Given the description of an element on the screen output the (x, y) to click on. 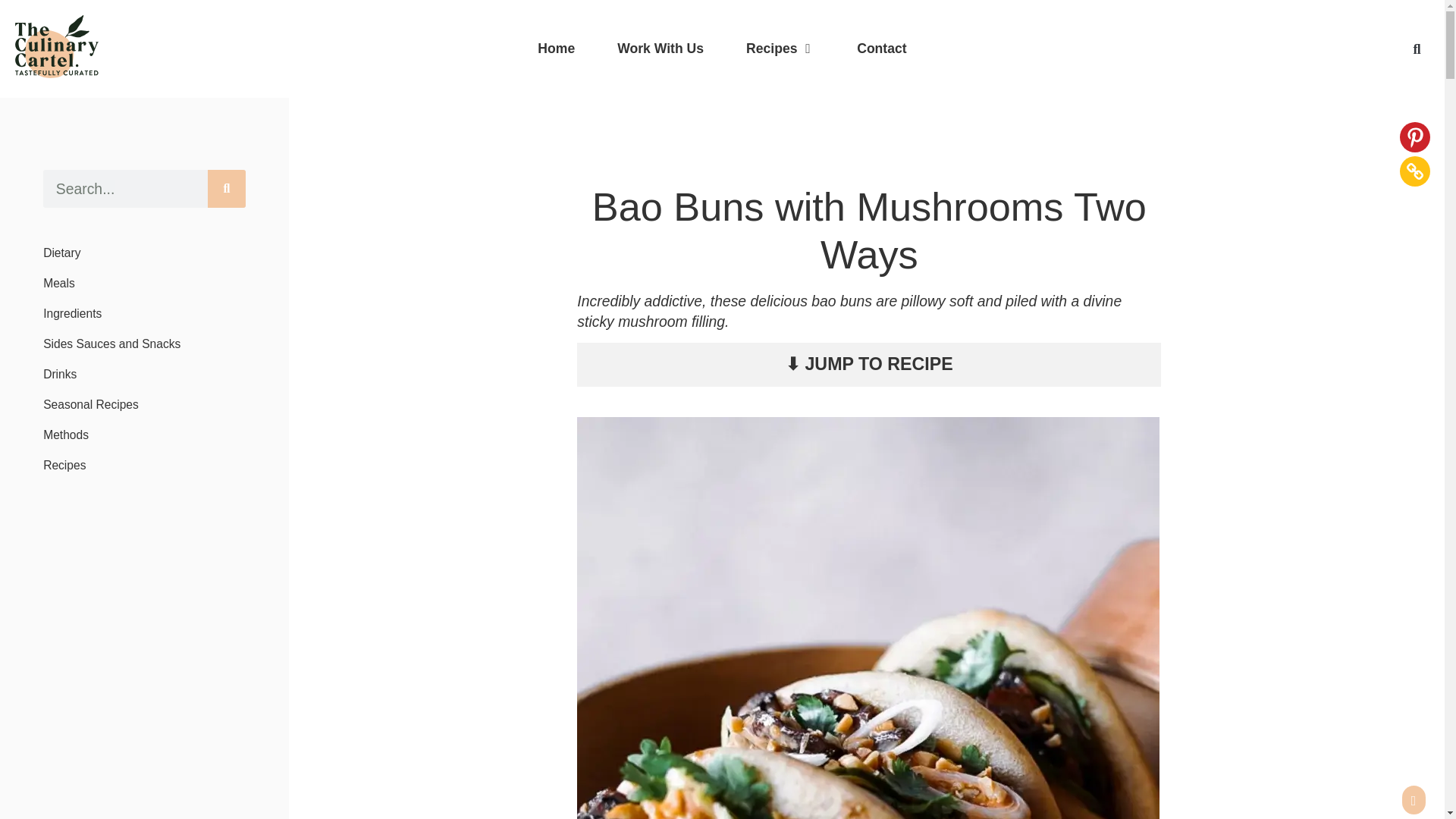
Copy Link (1414, 171)
Recipes (770, 48)
Pinterest (1414, 137)
Home (556, 48)
Contact (882, 48)
Work With Us (660, 48)
